Given the description of an element on the screen output the (x, y) to click on. 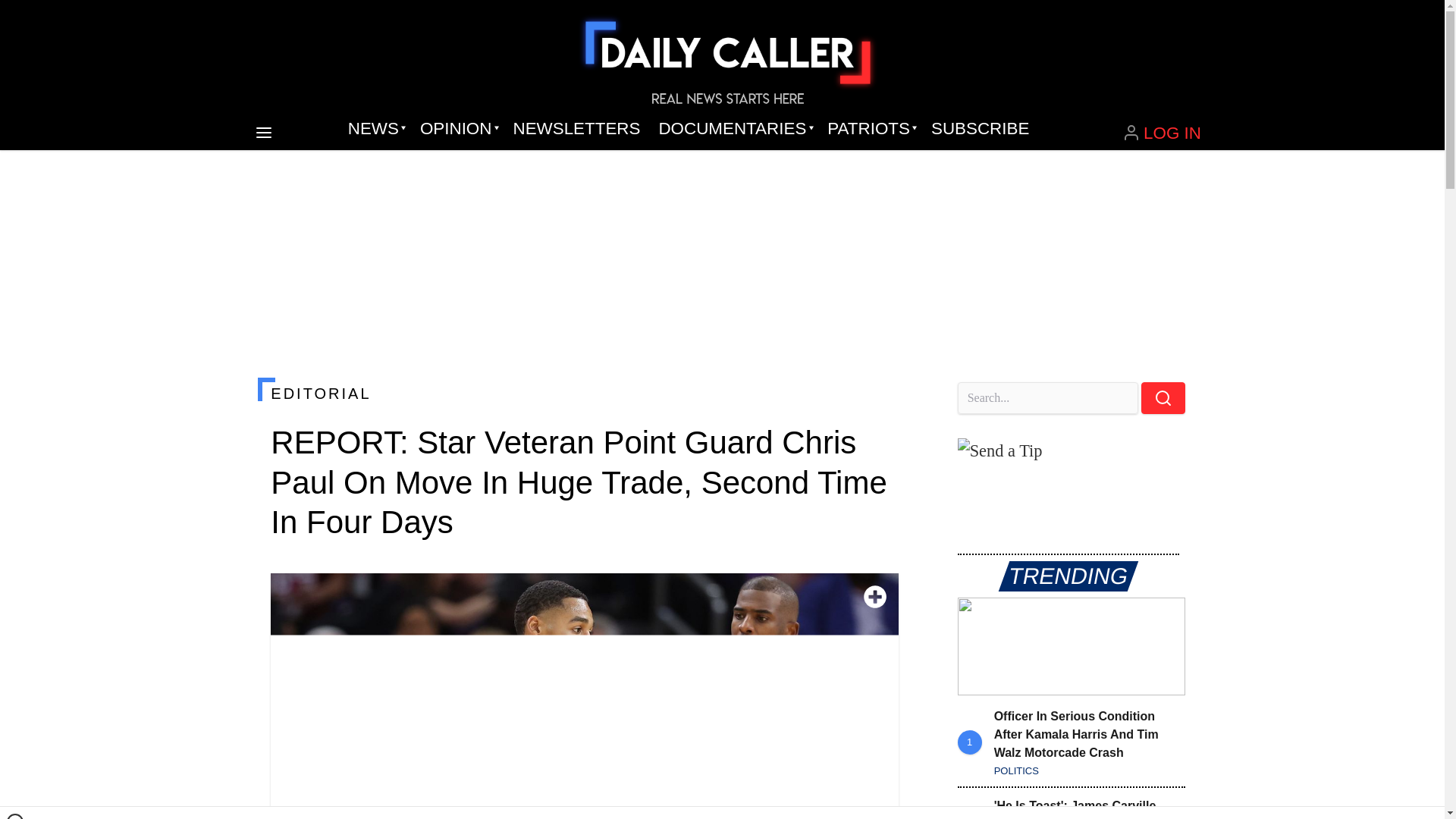
EDITORIAL (584, 393)
Toggle fullscreen (874, 596)
OPINION (456, 128)
NEWSLETTERS (576, 128)
SUBSCRIBE (979, 128)
PATRIOTS (869, 128)
DOCUMENTARIES (733, 128)
NEWS (374, 128)
